Given the description of an element on the screen output the (x, y) to click on. 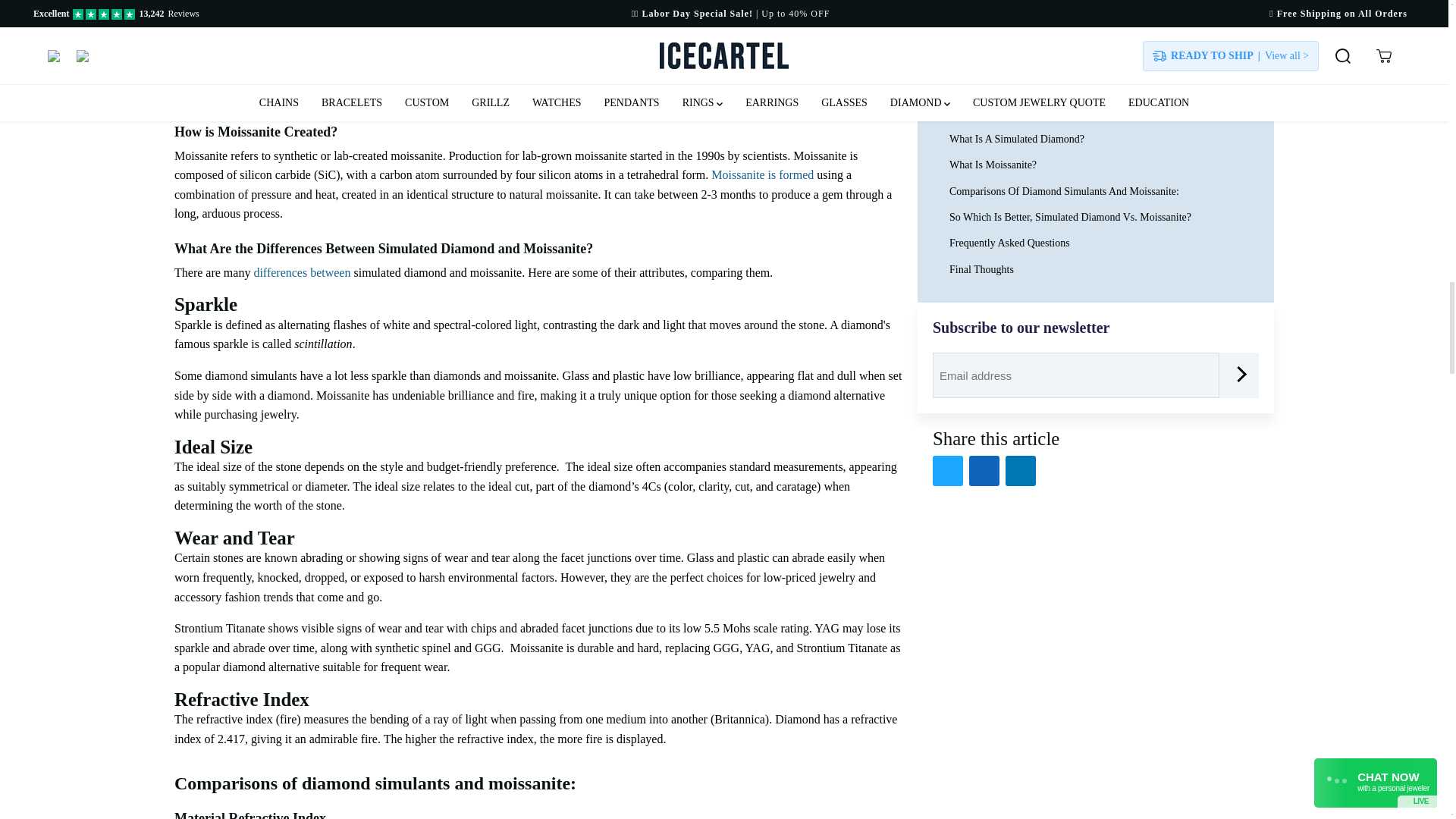
Moissanite, American Gem Society (576, 57)
Difference between diamond and moissanite (301, 272)
How is Moissanite Made (762, 174)
